Given the description of an element on the screen output the (x, y) to click on. 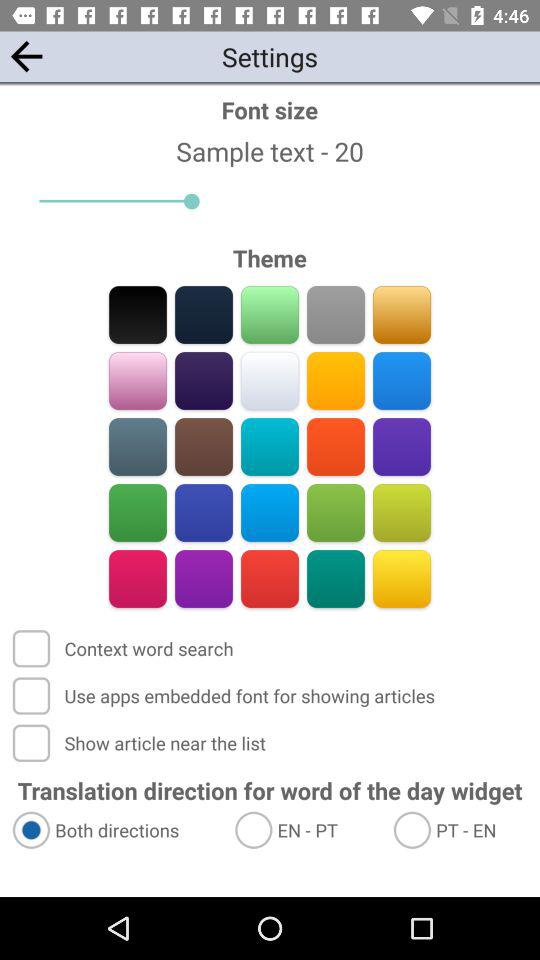
choose color (401, 578)
